Given the description of an element on the screen output the (x, y) to click on. 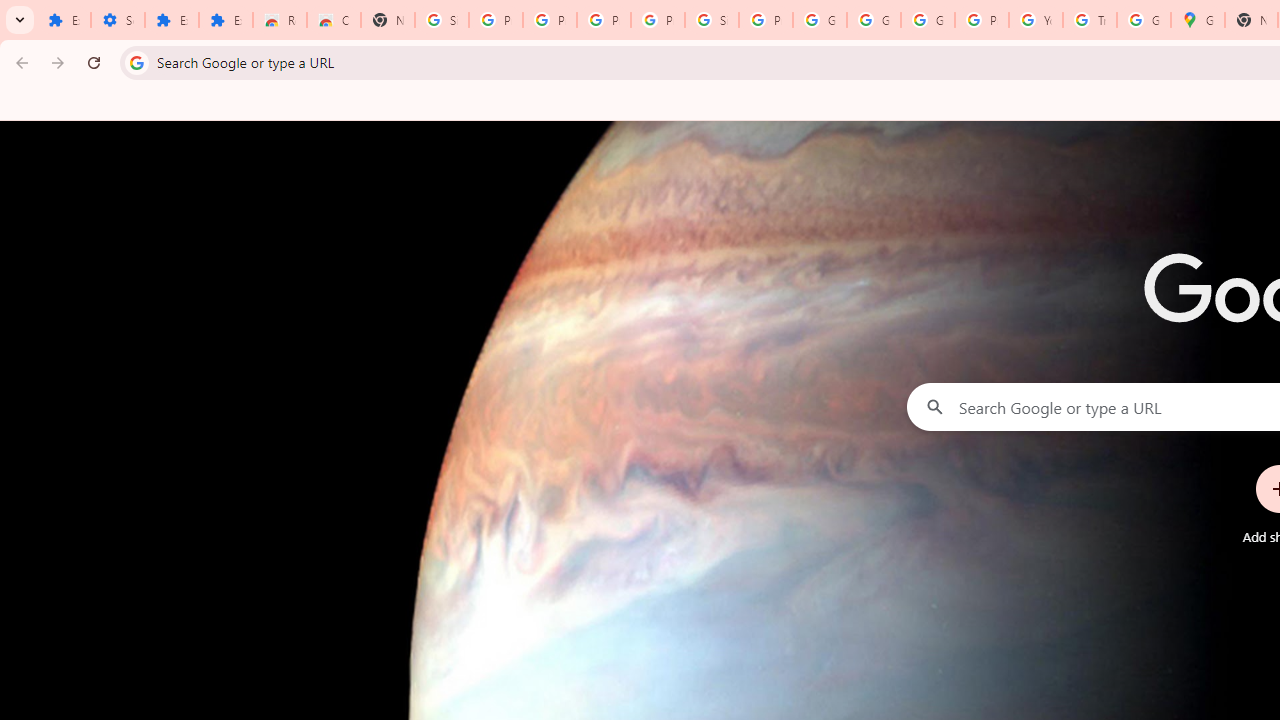
Settings (117, 20)
Google Account (819, 20)
Sign in - Google Accounts (441, 20)
Google Account (874, 20)
Reviews: Helix Fruit Jump Arcade Game (280, 20)
Chrome Web Store - Themes (333, 20)
